Given the description of an element on the screen output the (x, y) to click on. 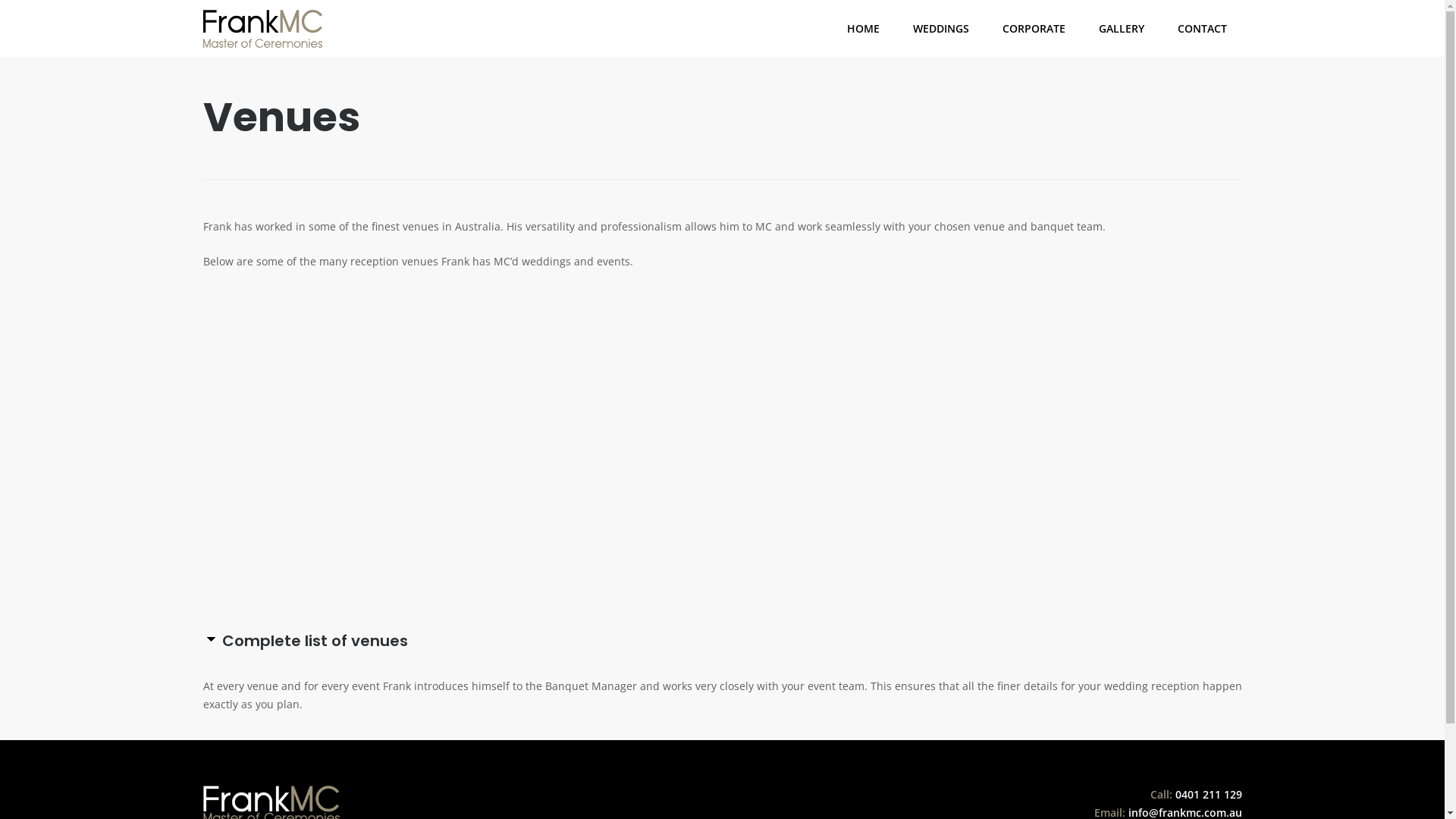
CORPORATE Element type: text (1033, 28)
GALLERY Element type: text (1120, 28)
Frank MC Element type: hover (263, 28)
HOME Element type: text (862, 28)
0401 211 129 Element type: text (1208, 794)
CONTACT Element type: text (1201, 28)
WEDDINGS Element type: text (940, 28)
